Given the description of an element on the screen output the (x, y) to click on. 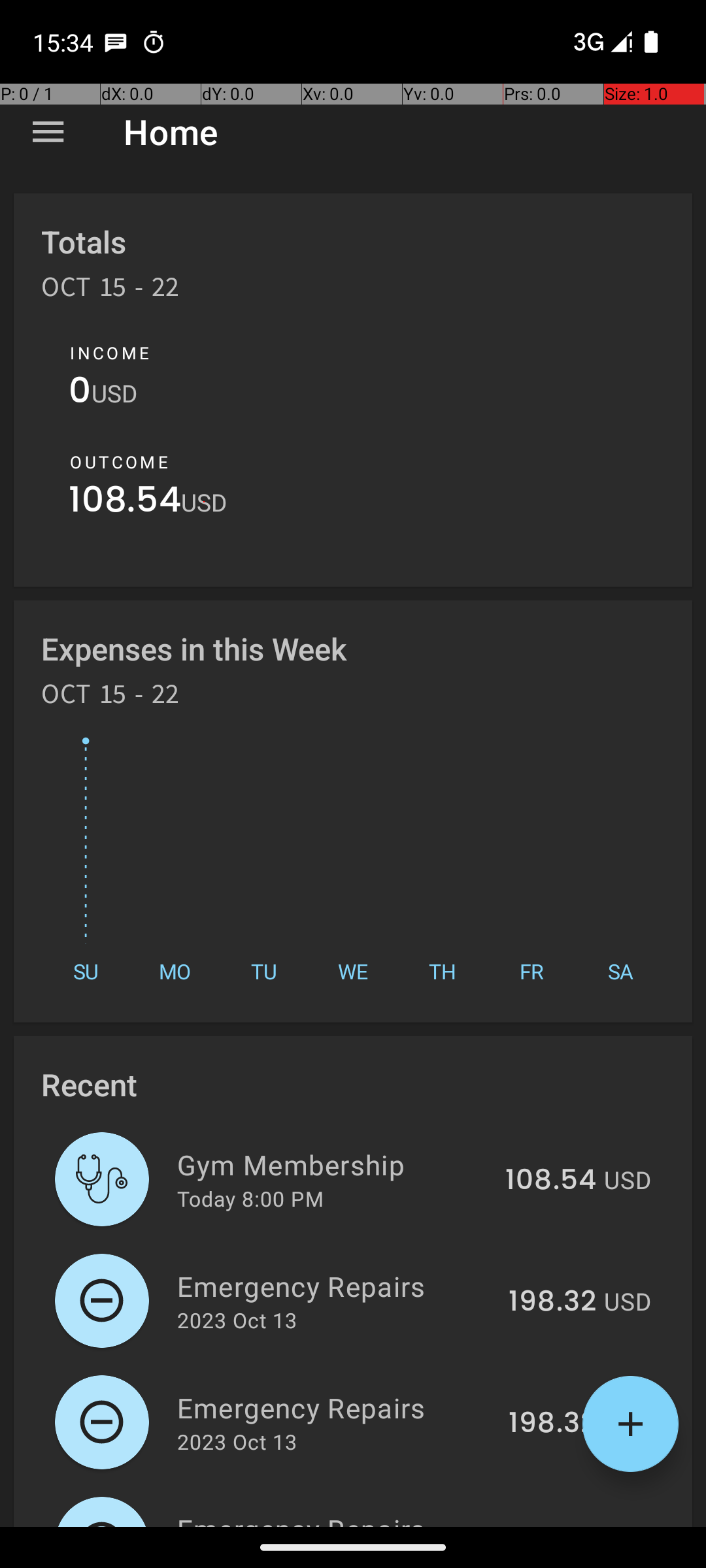
108.54 Element type: android.widget.TextView (124, 502)
Gym Membership Element type: android.widget.TextView (333, 1164)
Emergency Repairs Element type: android.widget.TextView (335, 1285)
198.32 Element type: android.widget.TextView (551, 1301)
205.58 Element type: android.widget.TextView (547, 1524)
